Given the description of an element on the screen output the (x, y) to click on. 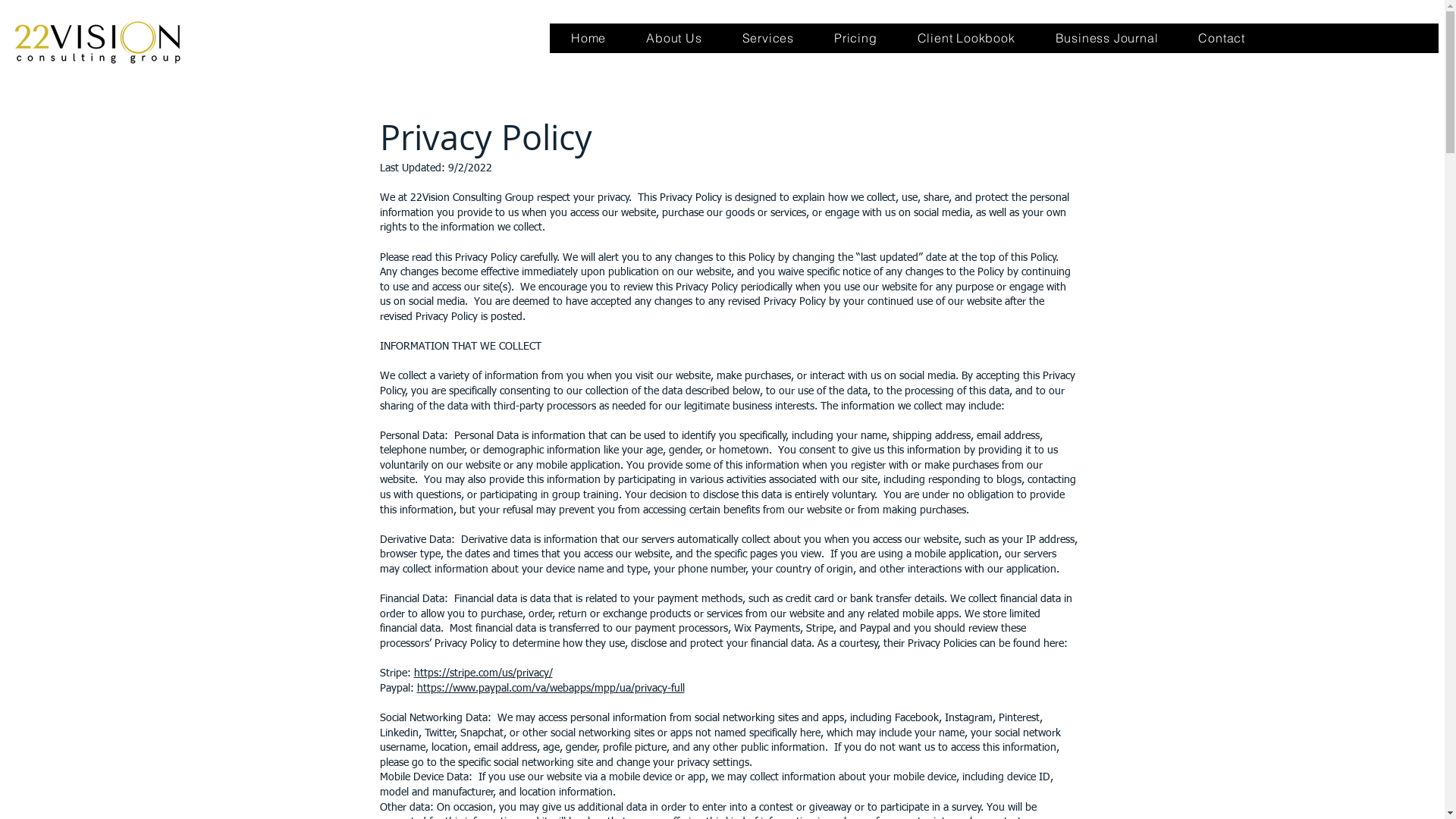
Business Journal Element type: text (1106, 37)
About Us Element type: text (673, 37)
https://stripe.com/us/privacy/ Element type: text (483, 673)
Services Element type: text (767, 37)
Pricing Element type: text (855, 37)
https://www.paypal.com/va/webapps/mpp/ua/privacy-full Element type: text (550, 688)
Home Element type: text (587, 37)
Client Lookbook Element type: text (966, 37)
Contact Element type: text (1221, 37)
